Given the description of an element on the screen output the (x, y) to click on. 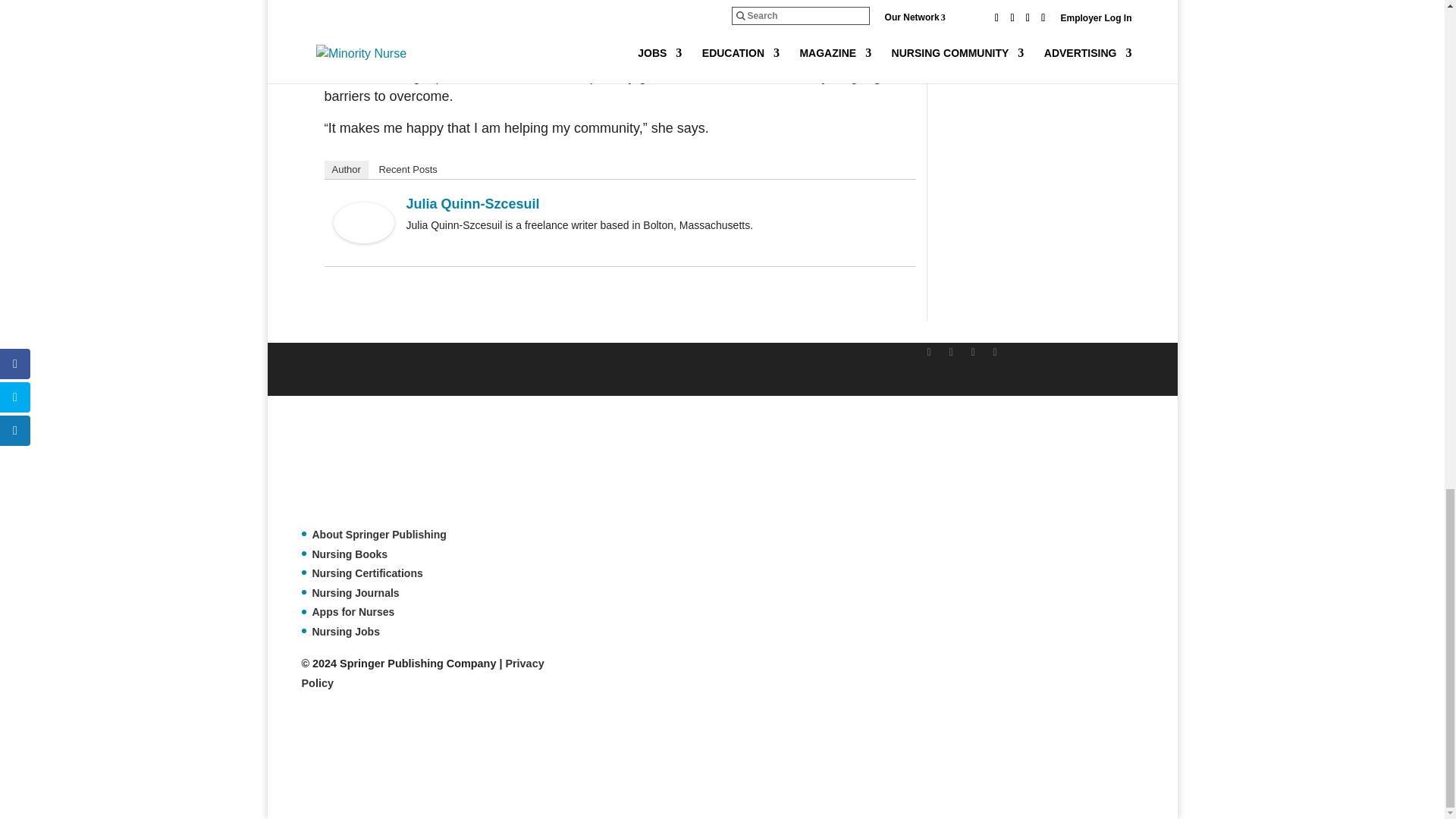
Springer Publishing Company (376, 468)
labor and delivery (390, 37)
3rd party ad content (577, 762)
midwife (865, 37)
